Given the description of an element on the screen output the (x, y) to click on. 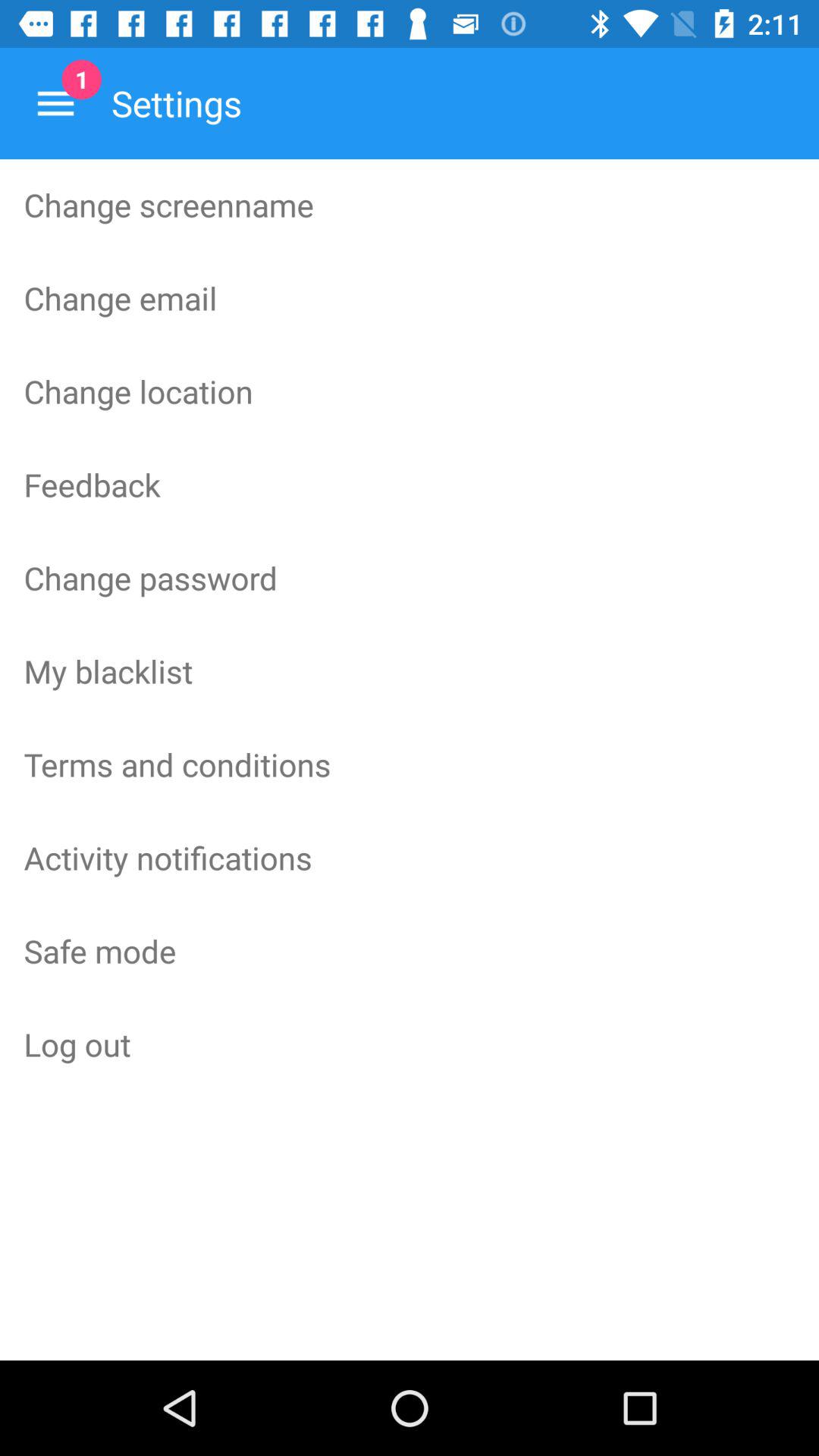
click the terms and conditions icon (409, 763)
